Given the description of an element on the screen output the (x, y) to click on. 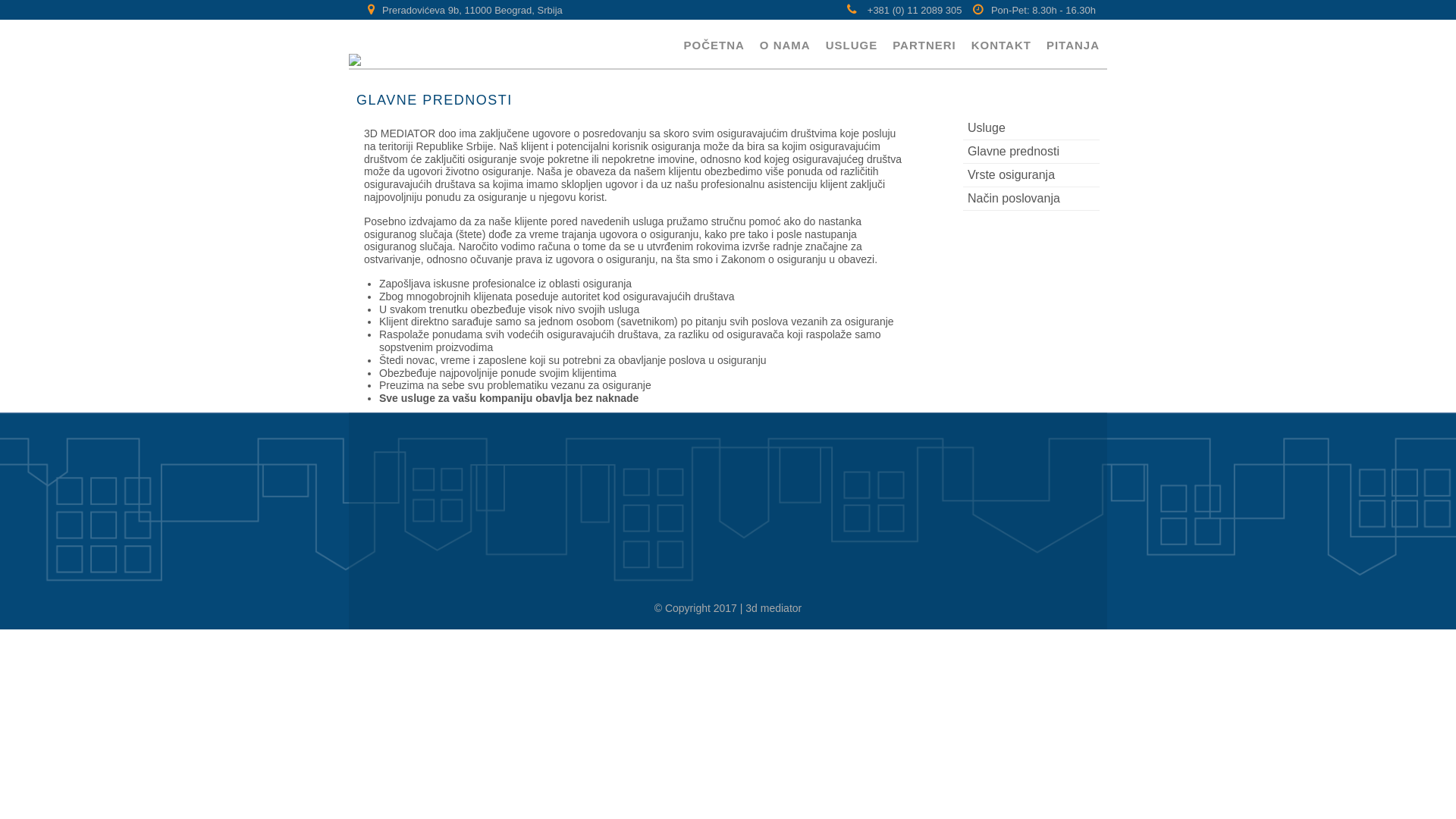
Usluge Element type: text (1031, 128)
O NAMA Element type: text (785, 44)
Glavne prednosti Element type: text (1031, 151)
PARTNERI Element type: text (923, 44)
Vrste osiguranja Element type: text (1031, 175)
USLUGE Element type: text (851, 44)
KONTAKT Element type: text (1000, 44)
PITANJA Element type: text (1072, 44)
